Given the description of an element on the screen output the (x, y) to click on. 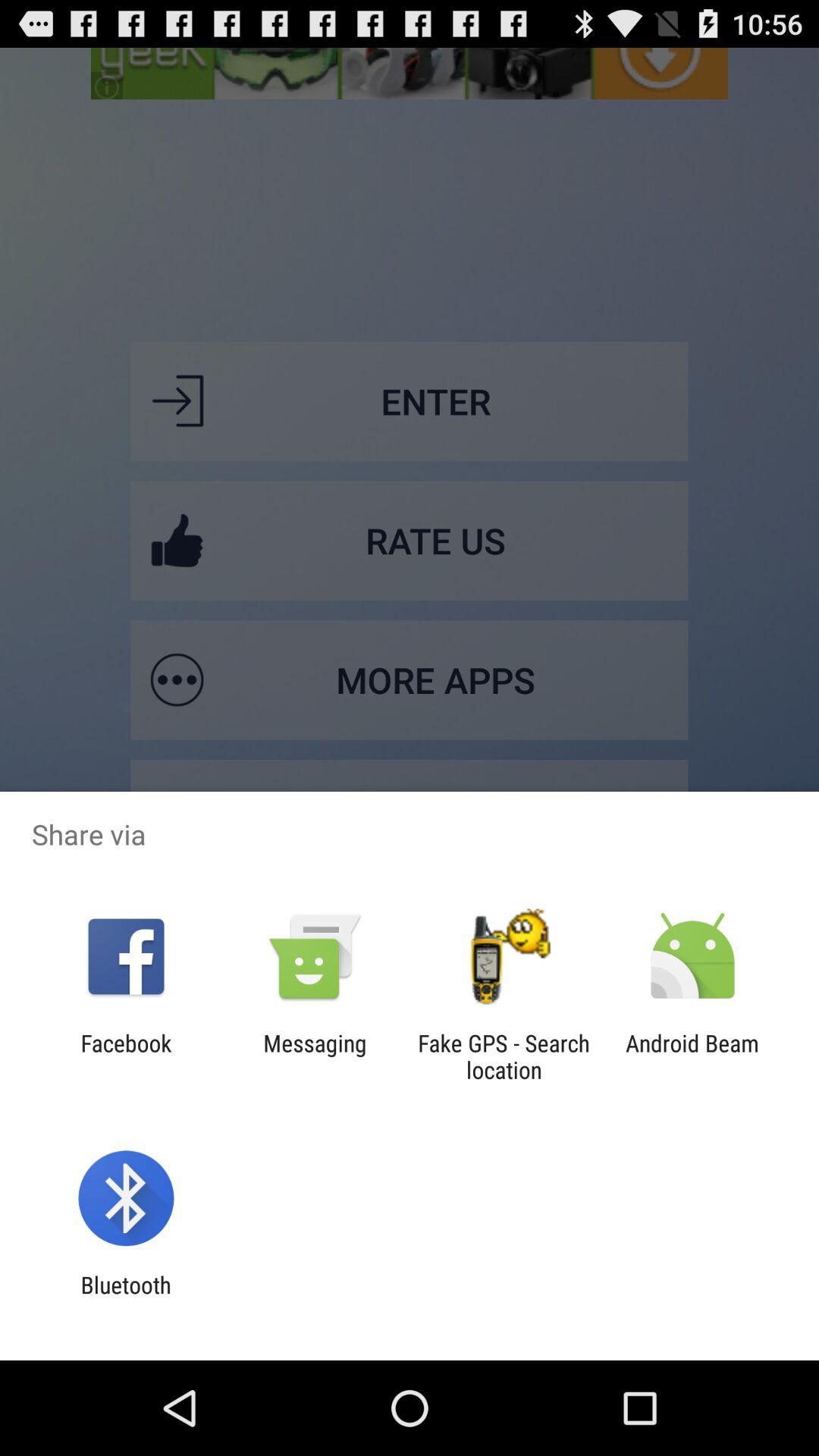
choose the app next to messaging app (125, 1056)
